Given the description of an element on the screen output the (x, y) to click on. 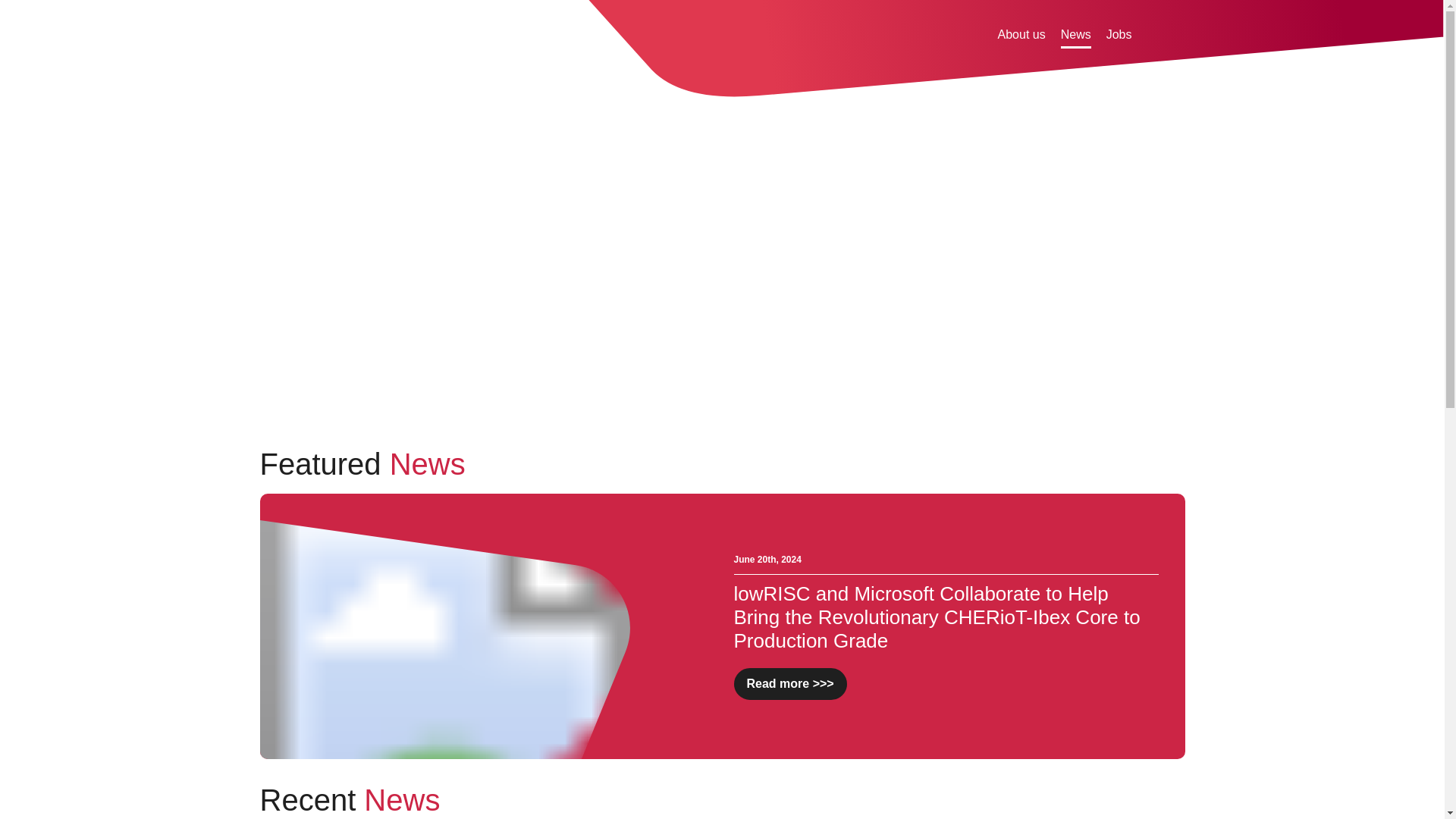
News (1075, 37)
Home (278, 32)
Home (278, 32)
About us (1021, 37)
Jobs (1119, 37)
